Given the description of an element on the screen output the (x, y) to click on. 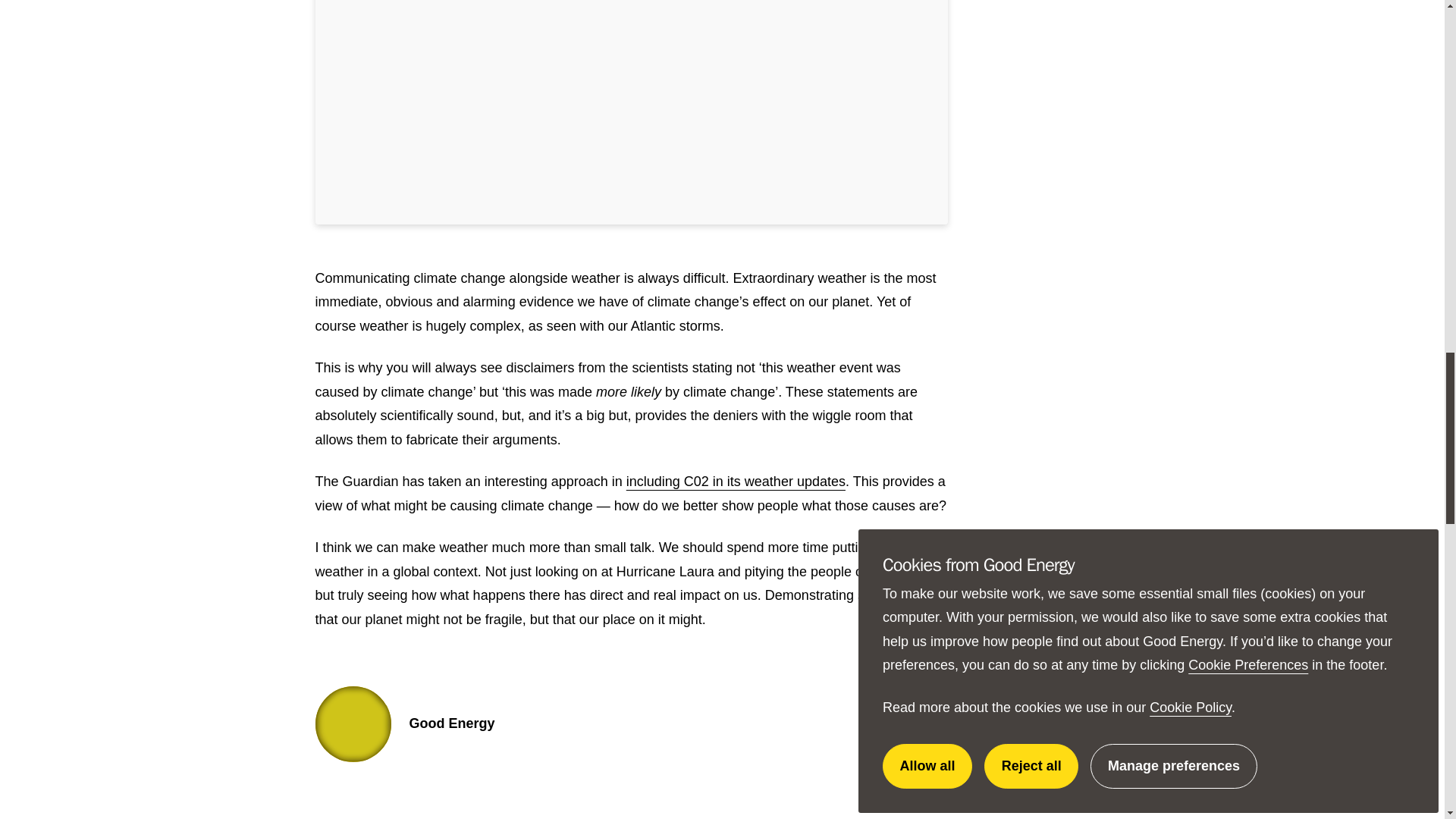
including C02 in its weather updates (735, 481)
Share this (1049, 551)
